Given the description of an element on the screen output the (x, y) to click on. 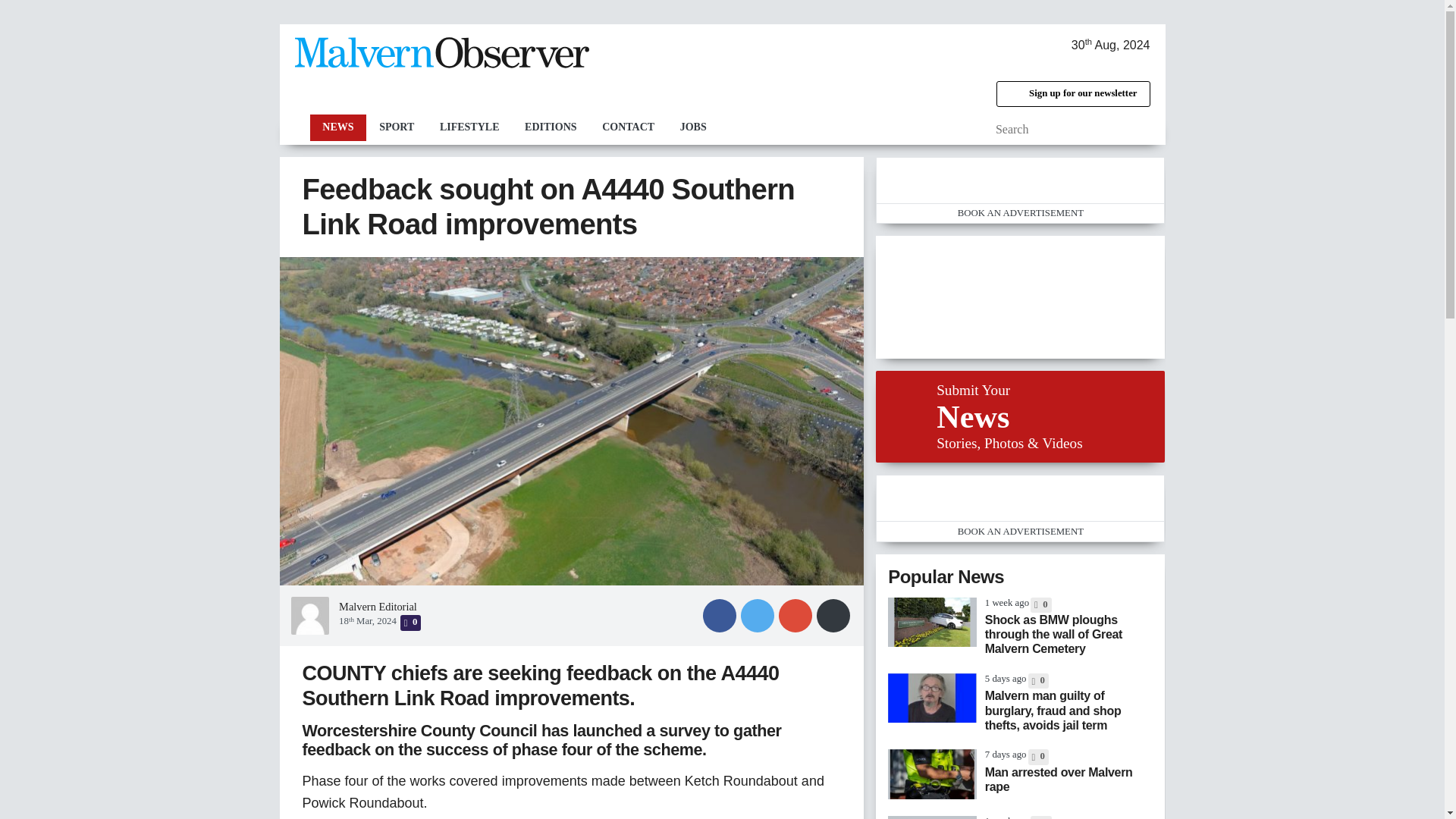
EDITIONS (550, 127)
LIFESTYLE (469, 127)
The Malvern Observer (441, 55)
CONTACT (627, 127)
JOBS (692, 127)
  Sign up for our newsletter (1072, 94)
SPORT (396, 127)
NEWS (337, 127)
